Given the description of an element on the screen output the (x, y) to click on. 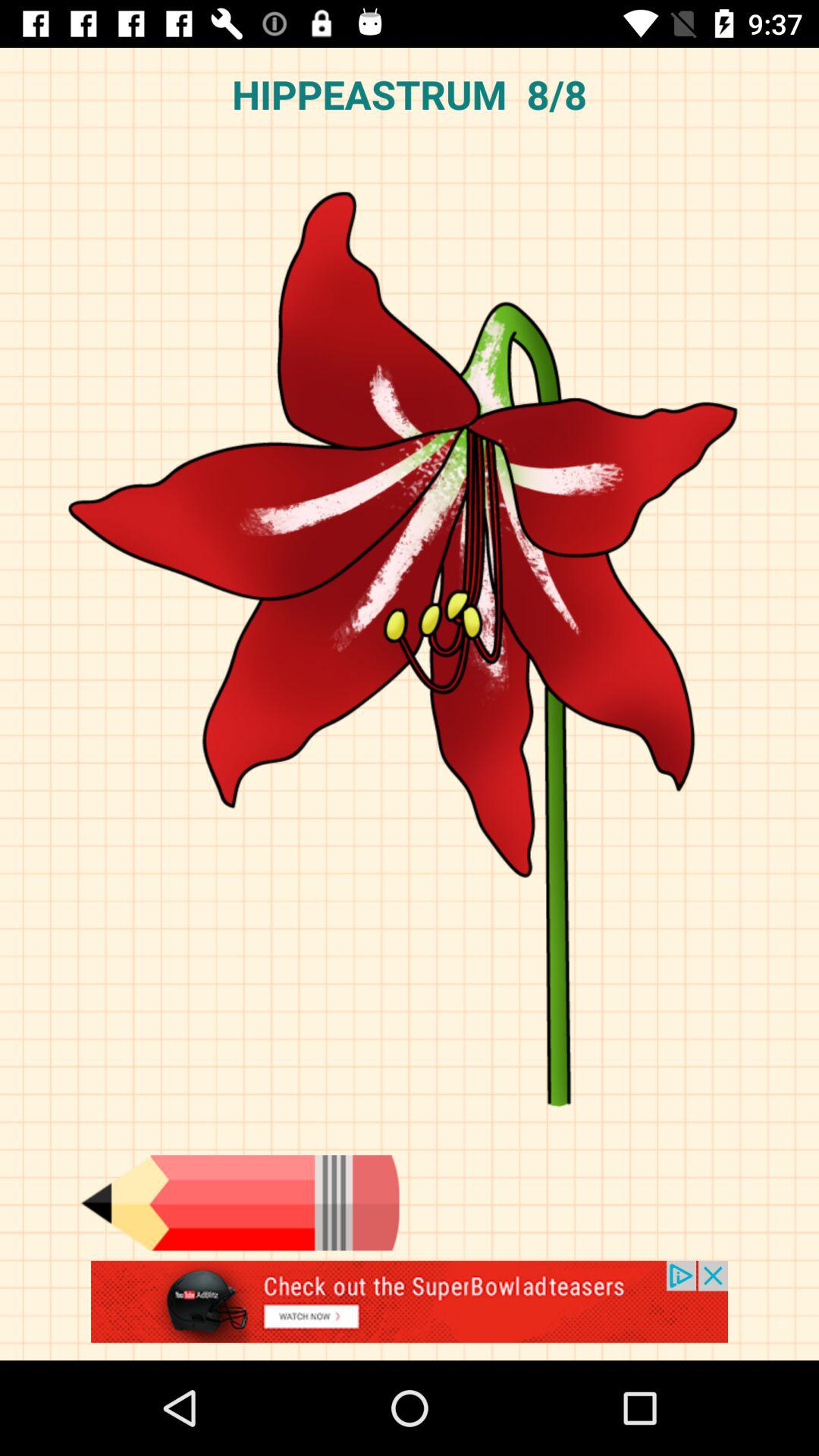
select pencil tool (239, 1202)
